Given the description of an element on the screen output the (x, y) to click on. 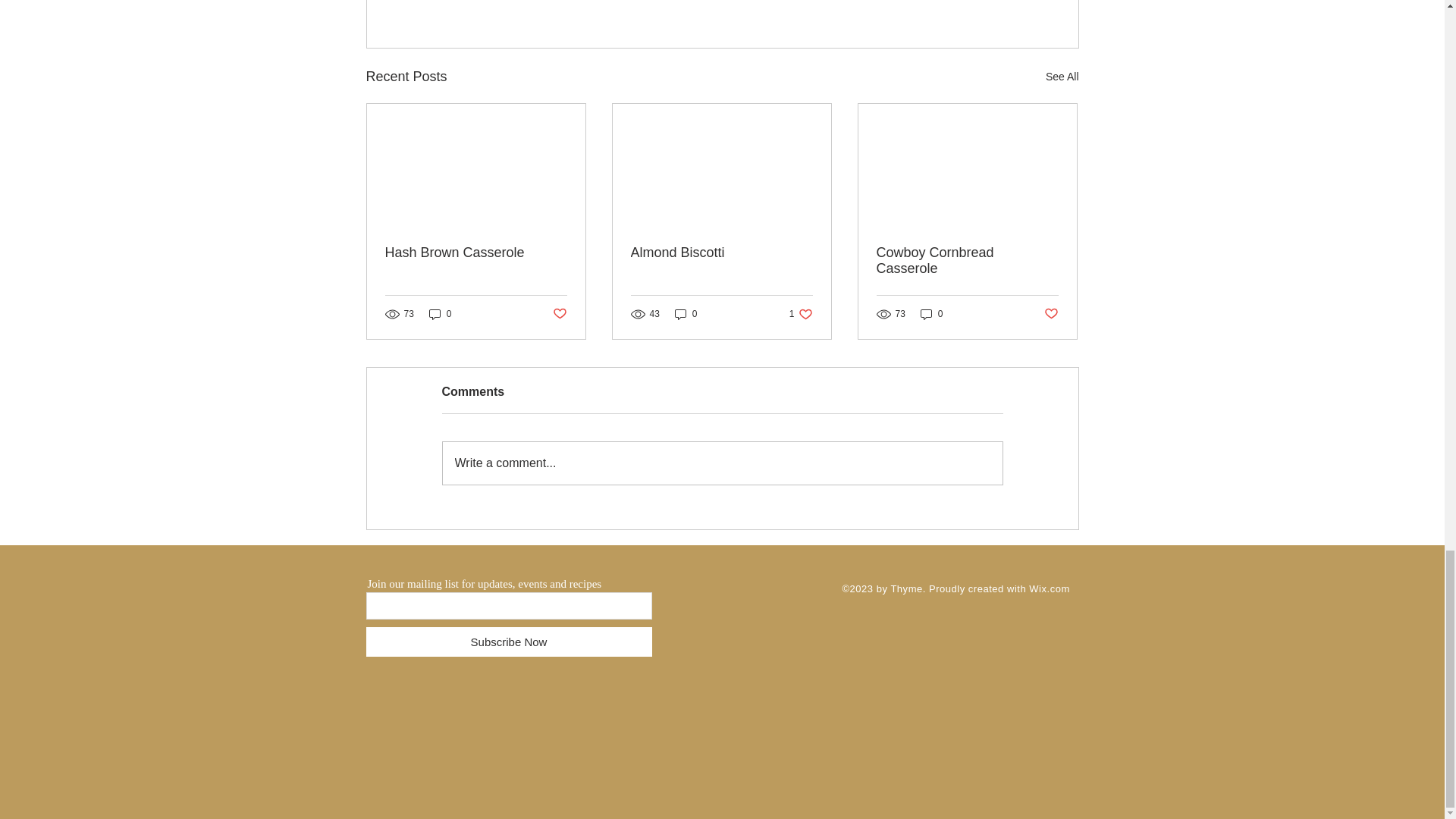
Hash Brown Casserole (476, 252)
0 (931, 313)
Cowboy Cornbread Casserole (967, 260)
See All (1061, 76)
Post not marked as liked (995, 1)
Wix.com (1048, 588)
Post not marked as liked (1050, 314)
Subscribe Now (507, 641)
Write a comment... (722, 463)
0 (685, 313)
Post not marked as liked (558, 314)
Almond Biscotti (721, 252)
0 (800, 313)
